Given the description of an element on the screen output the (x, y) to click on. 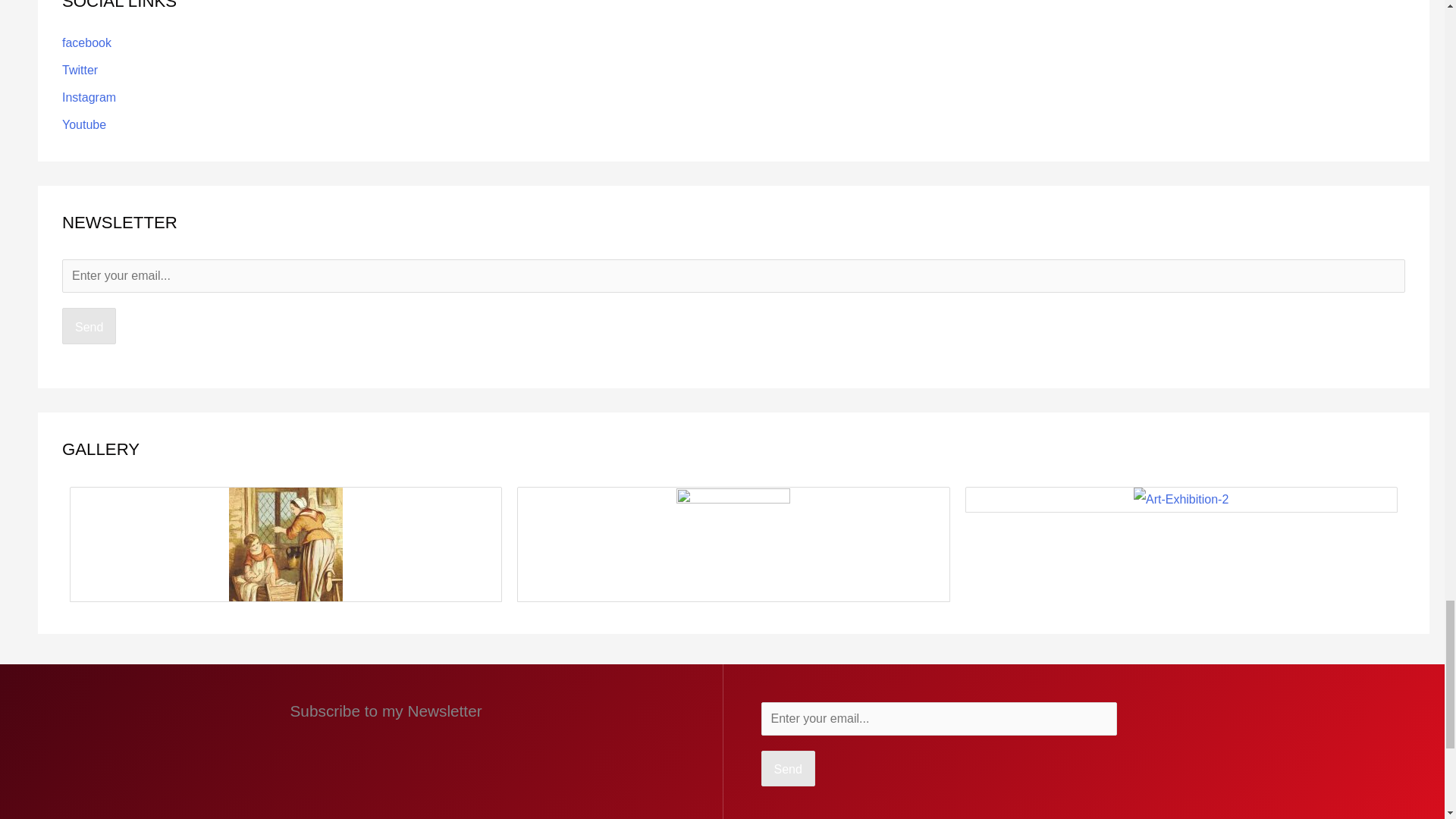
Send (788, 769)
facebook (87, 42)
Twitter (79, 69)
Instagram (89, 97)
Youtube (84, 124)
Send (89, 325)
